Given the description of an element on the screen output the (x, y) to click on. 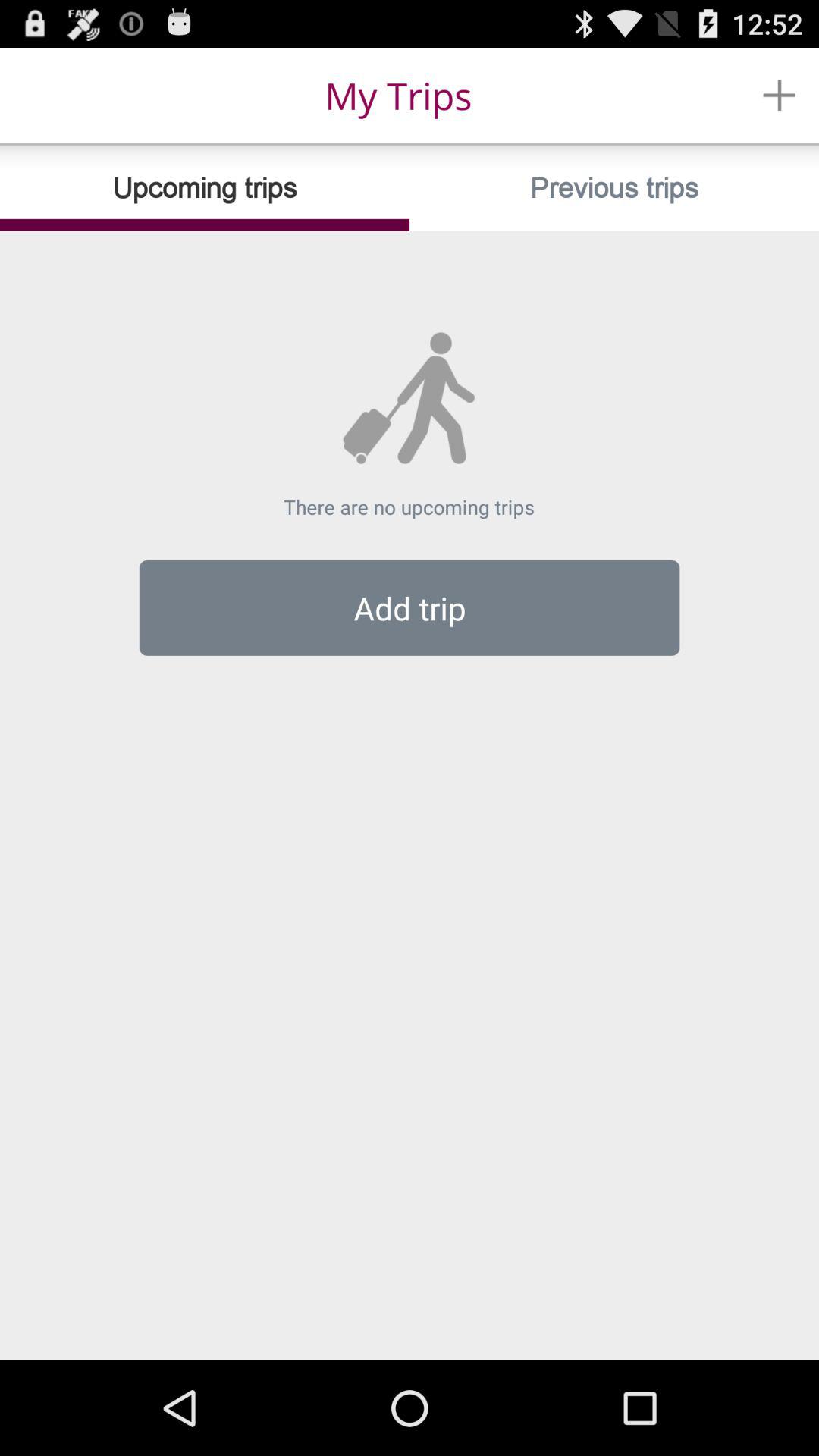
choose the add trip at the center (409, 607)
